Given the description of an element on the screen output the (x, y) to click on. 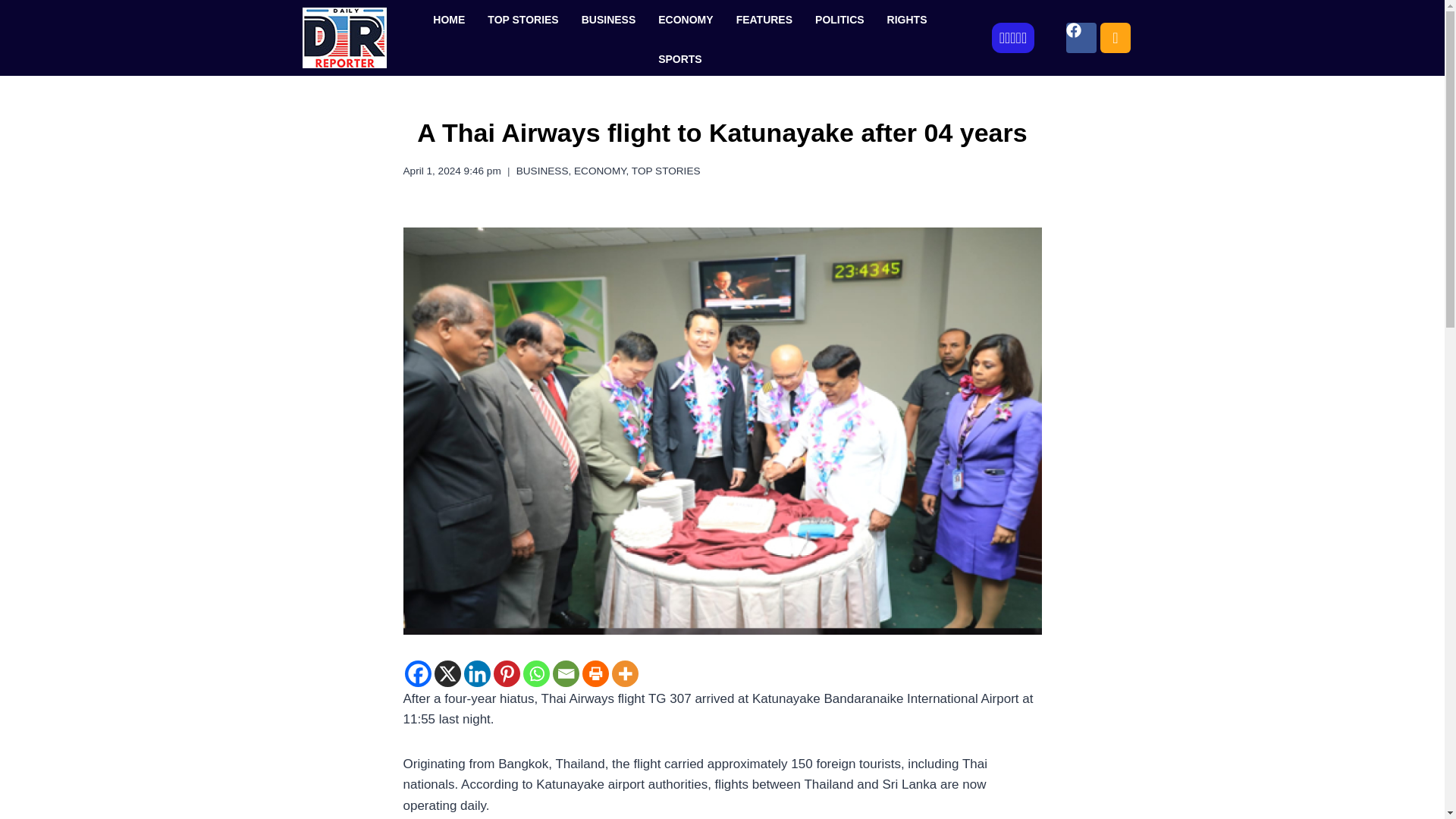
Print (595, 673)
More (624, 673)
HOME (449, 19)
RIGHTS (907, 19)
Facebook (417, 673)
ECONOMY (684, 19)
Whatsapp (536, 673)
SPORTS (679, 58)
Email (564, 673)
Pinterest (506, 673)
TOP STORIES (665, 170)
X (446, 673)
ECONOMY (599, 170)
TOP STORIES (522, 19)
BUSINESS (542, 170)
